Given the description of an element on the screen output the (x, y) to click on. 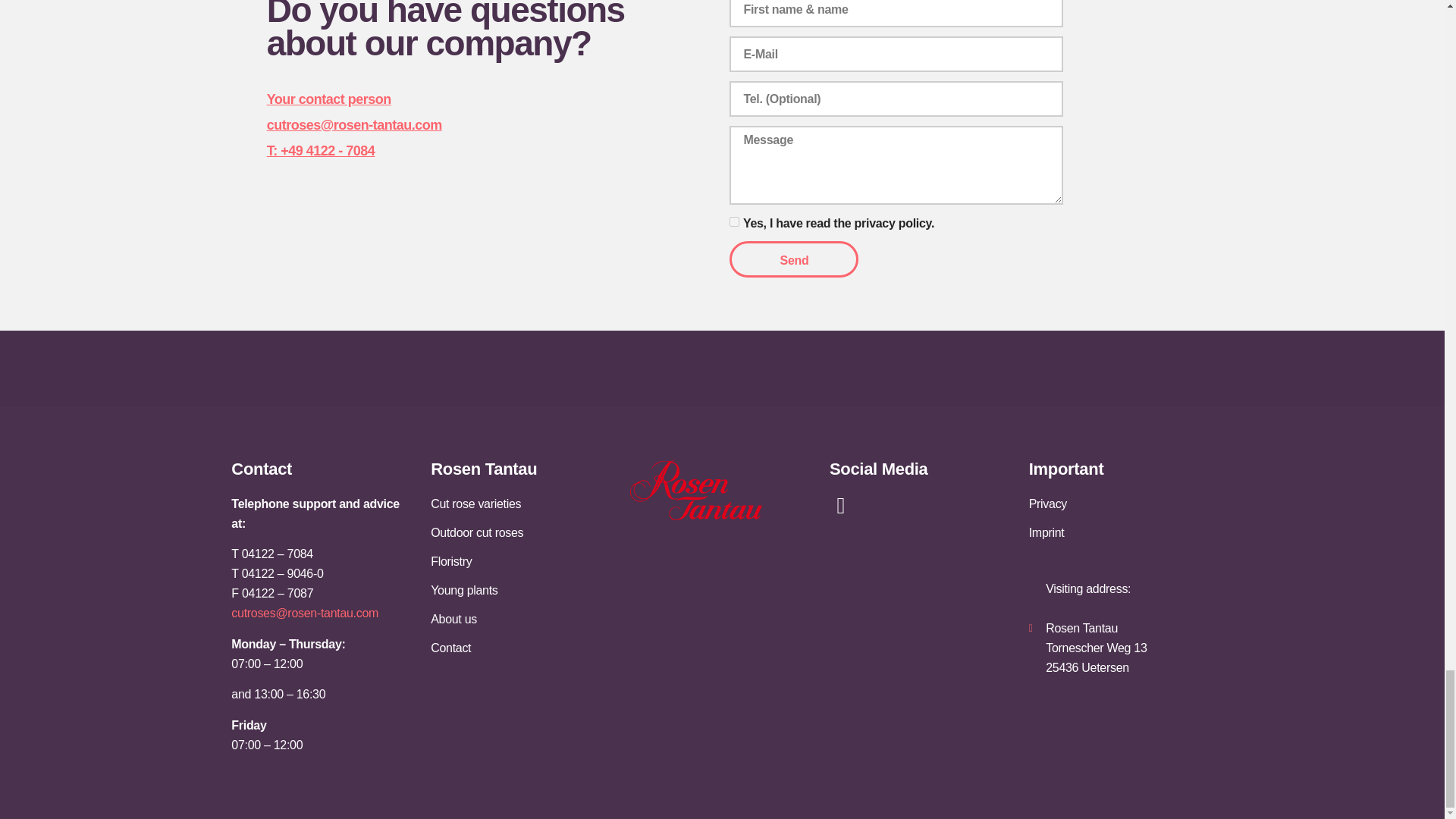
Cut rose varieties (522, 504)
Floristry (522, 561)
Outdoor cut roses (522, 532)
About us (522, 619)
on (734, 221)
Your contact person (328, 99)
Contact (522, 648)
Young plants (522, 590)
Send (794, 258)
